Given the description of an element on the screen output the (x, y) to click on. 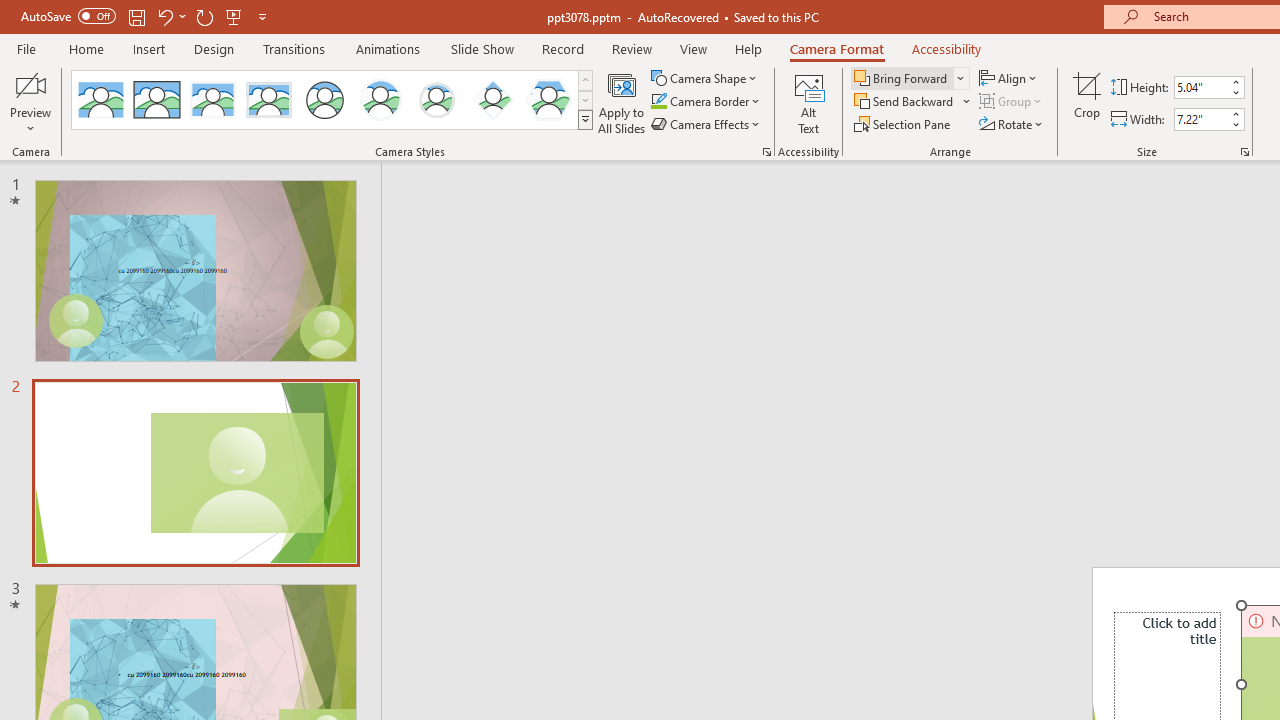
Center Shadow Circle (381, 100)
AutomationID: CameoStylesGallery (333, 99)
Selection Pane... (904, 124)
Center Shadow Rectangle (212, 100)
